Given the description of an element on the screen output the (x, y) to click on. 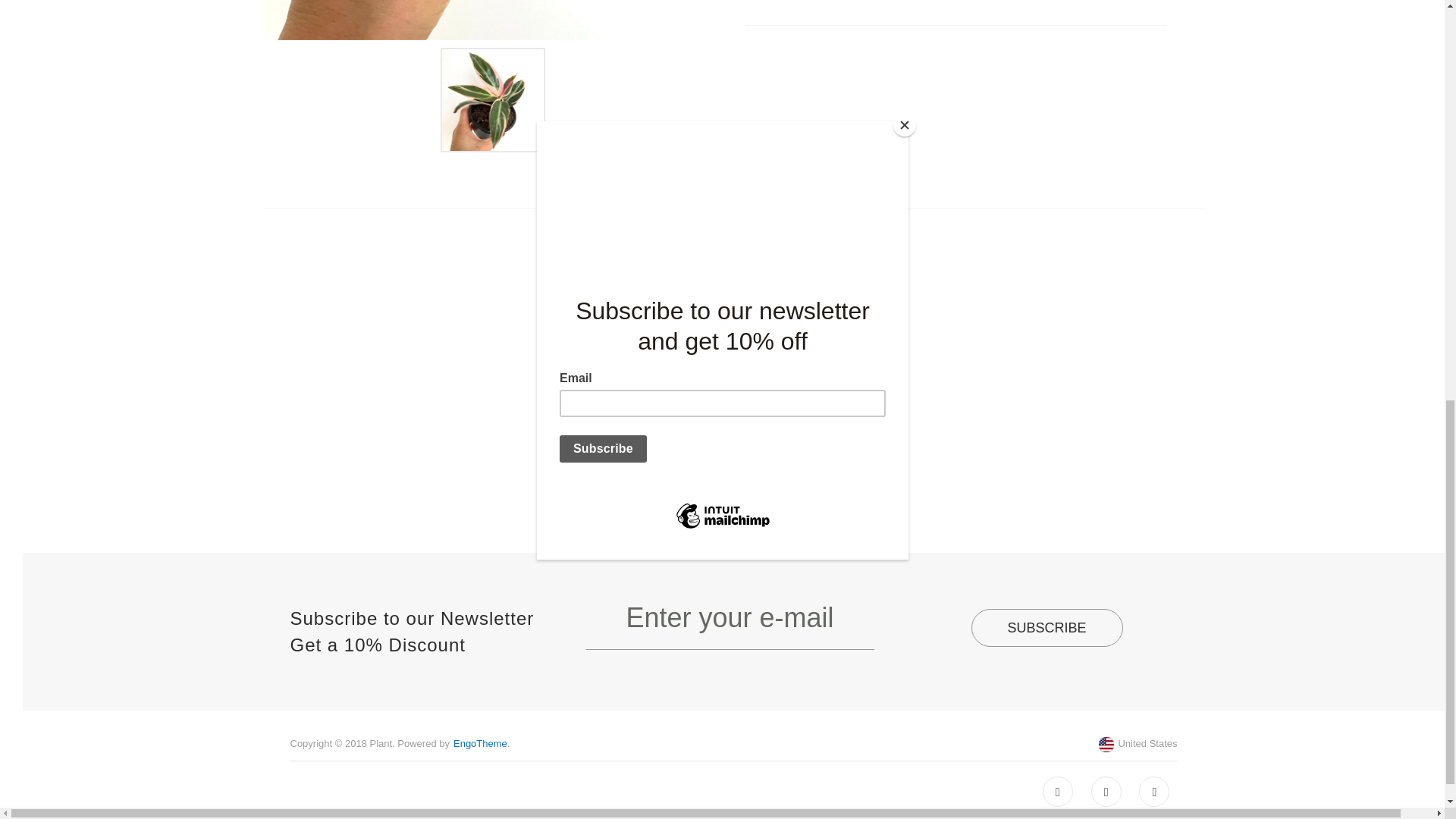
Subscribe (1046, 628)
EngoTheme (479, 743)
Monstera Adansonii 4" (732, 401)
Subscribe (1046, 628)
